Given the description of an element on the screen output the (x, y) to click on. 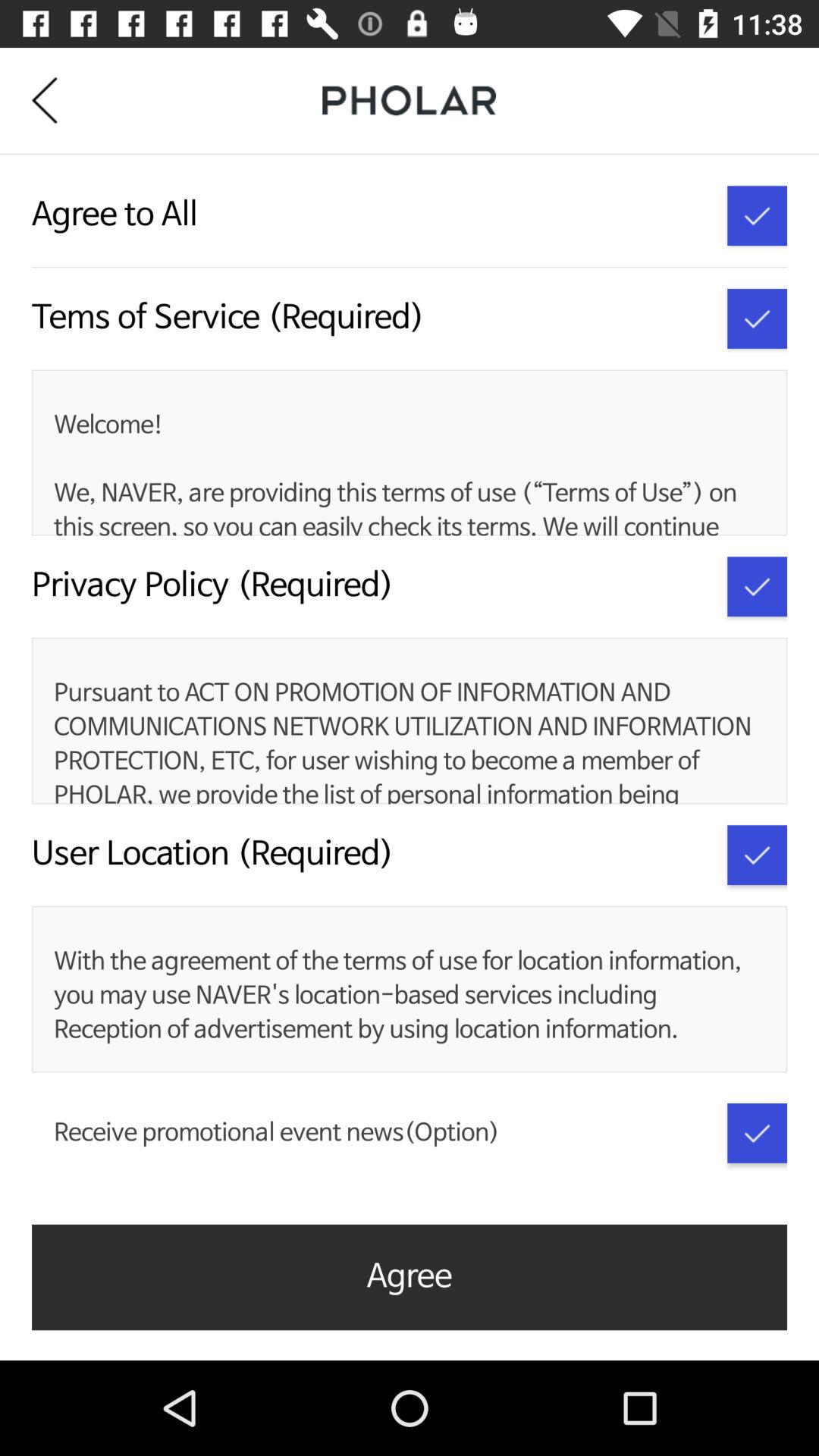
go back (55, 100)
